Given the description of an element on the screen output the (x, y) to click on. 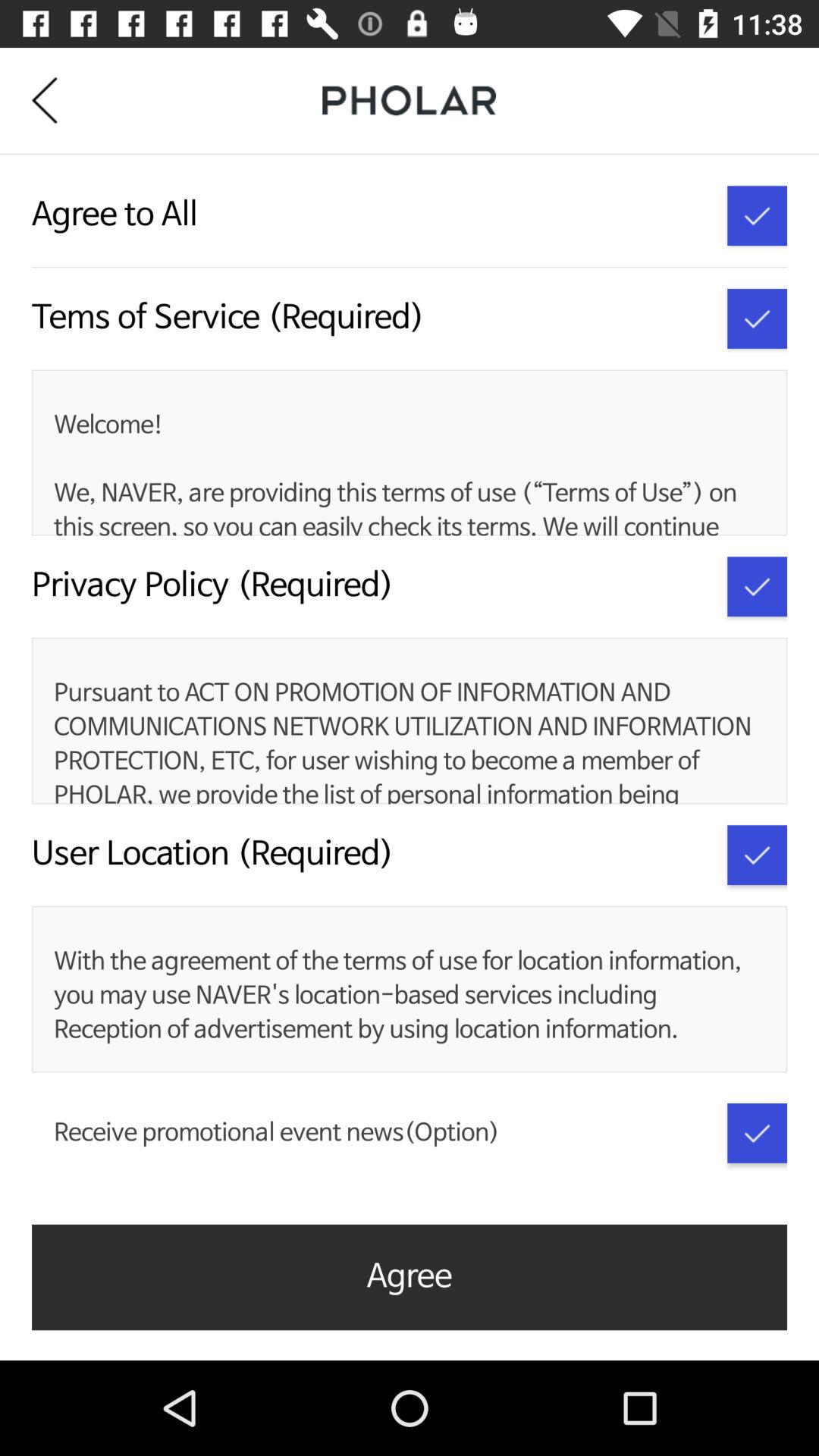
go back (55, 100)
